Given the description of an element on the screen output the (x, y) to click on. 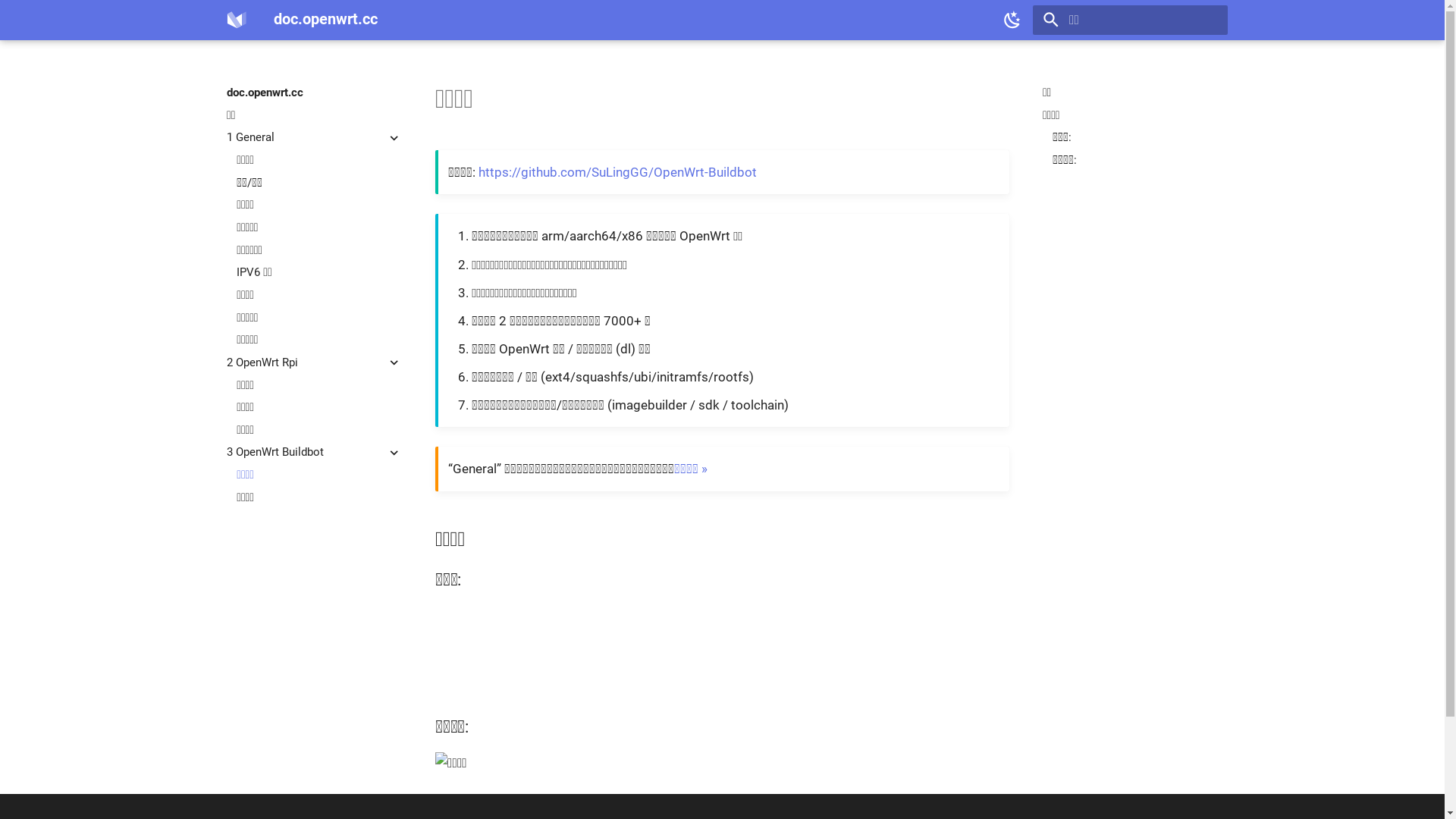
doc.openwrt.cc Element type: hover (236, 19)
Switch to dark mode Element type: hover (1012, 19)
https://github.com/SuLingGG/OpenWrt-Buildbot Element type: text (617, 172)
